Given the description of an element on the screen output the (x, y) to click on. 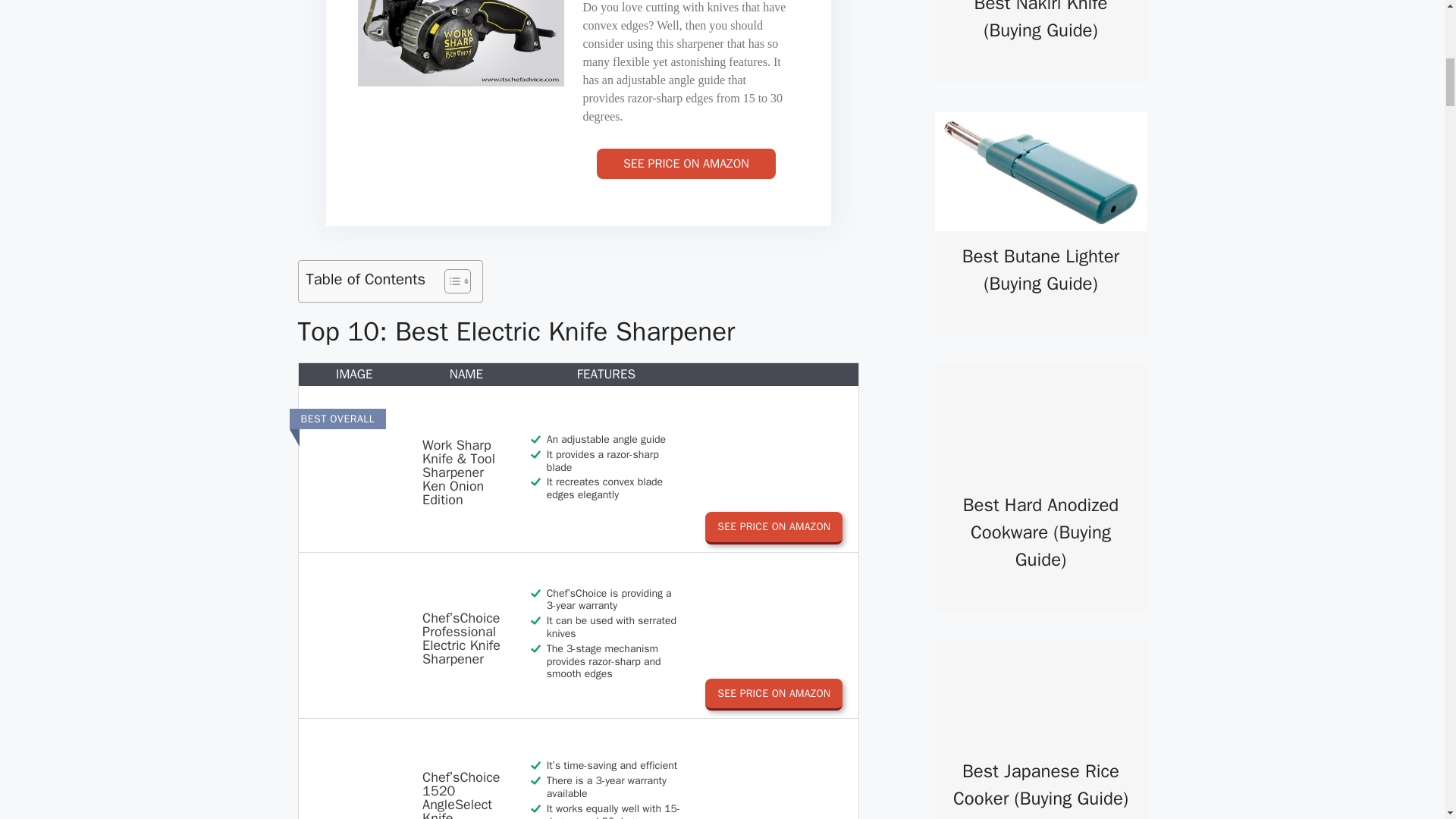
SEE PRICE ON AMAZON (686, 163)
